Given the description of an element on the screen output the (x, y) to click on. 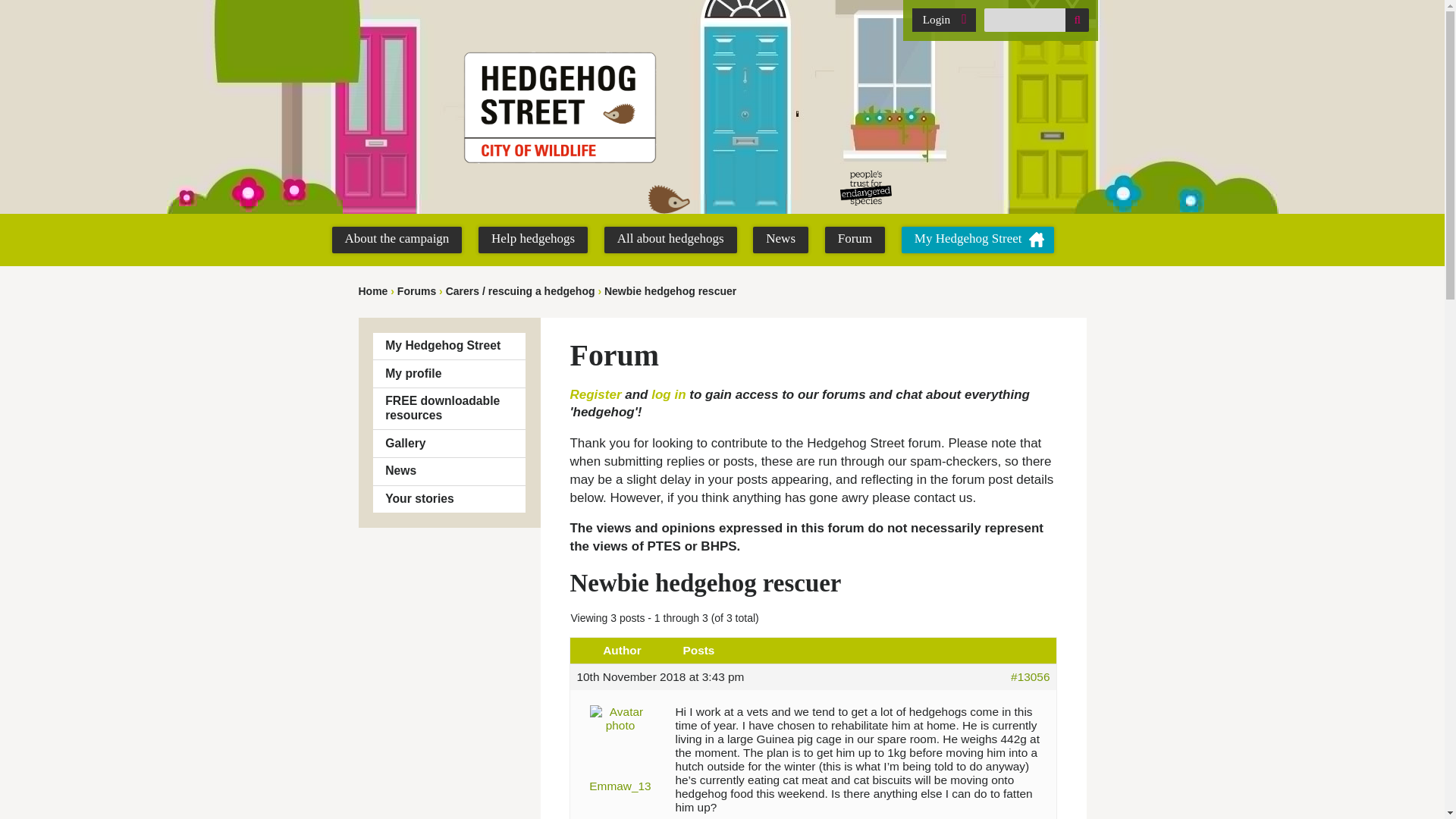
Peoples Trust for Endangered Species (865, 188)
Forum (855, 239)
Forums (416, 291)
Help hedgehogs (533, 239)
About the campaign (397, 239)
News (780, 239)
British Hedgehog Preservation Society (936, 188)
Home (372, 291)
All about hedgehogs (670, 239)
Login (943, 19)
